Given the description of an element on the screen output the (x, y) to click on. 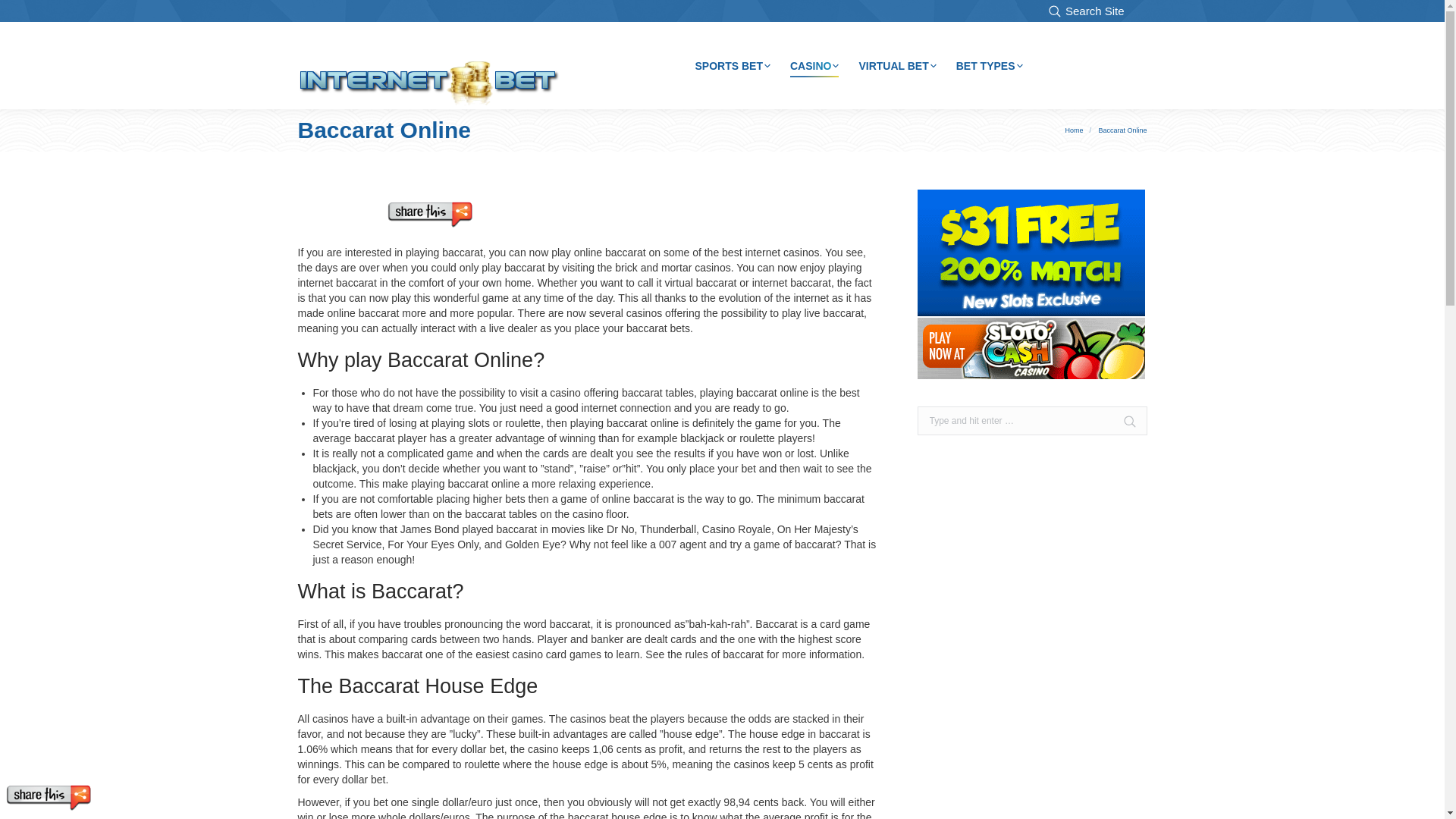
CASINO (814, 66)
Go! (1121, 429)
Go! (22, 14)
Search Site (1086, 10)
VIRTUAL BET (897, 66)
Go! (1121, 429)
SPORTS BET (732, 66)
BET TYPES (989, 66)
